Given the description of an element on the screen output the (x, y) to click on. 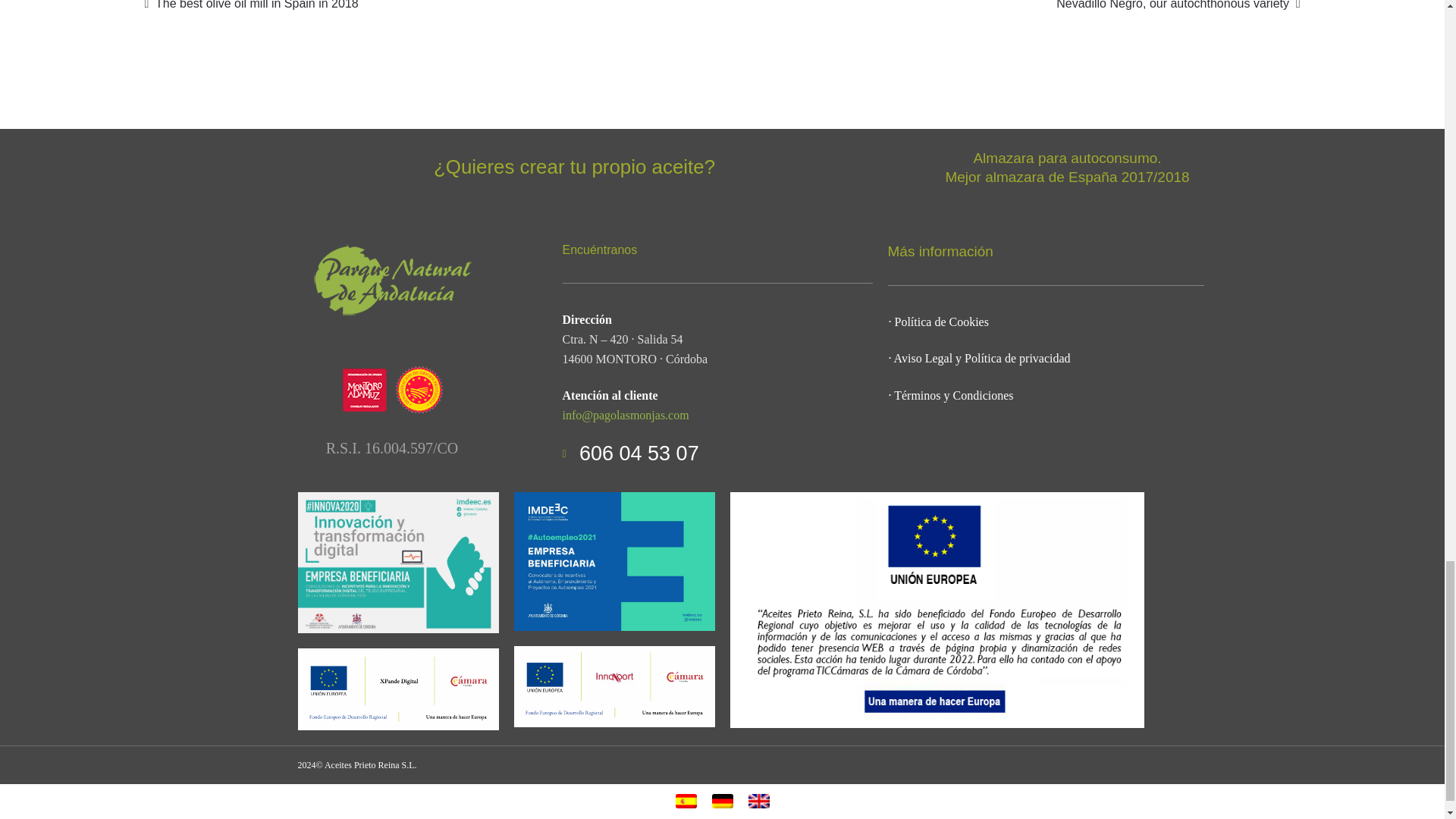
Nevadillo Negro, our autochthonous variety (1178, 6)
606 04 53 07 (717, 453)
The best olive oil mill in Spain in 2018 (251, 6)
